Given the description of an element on the screen output the (x, y) to click on. 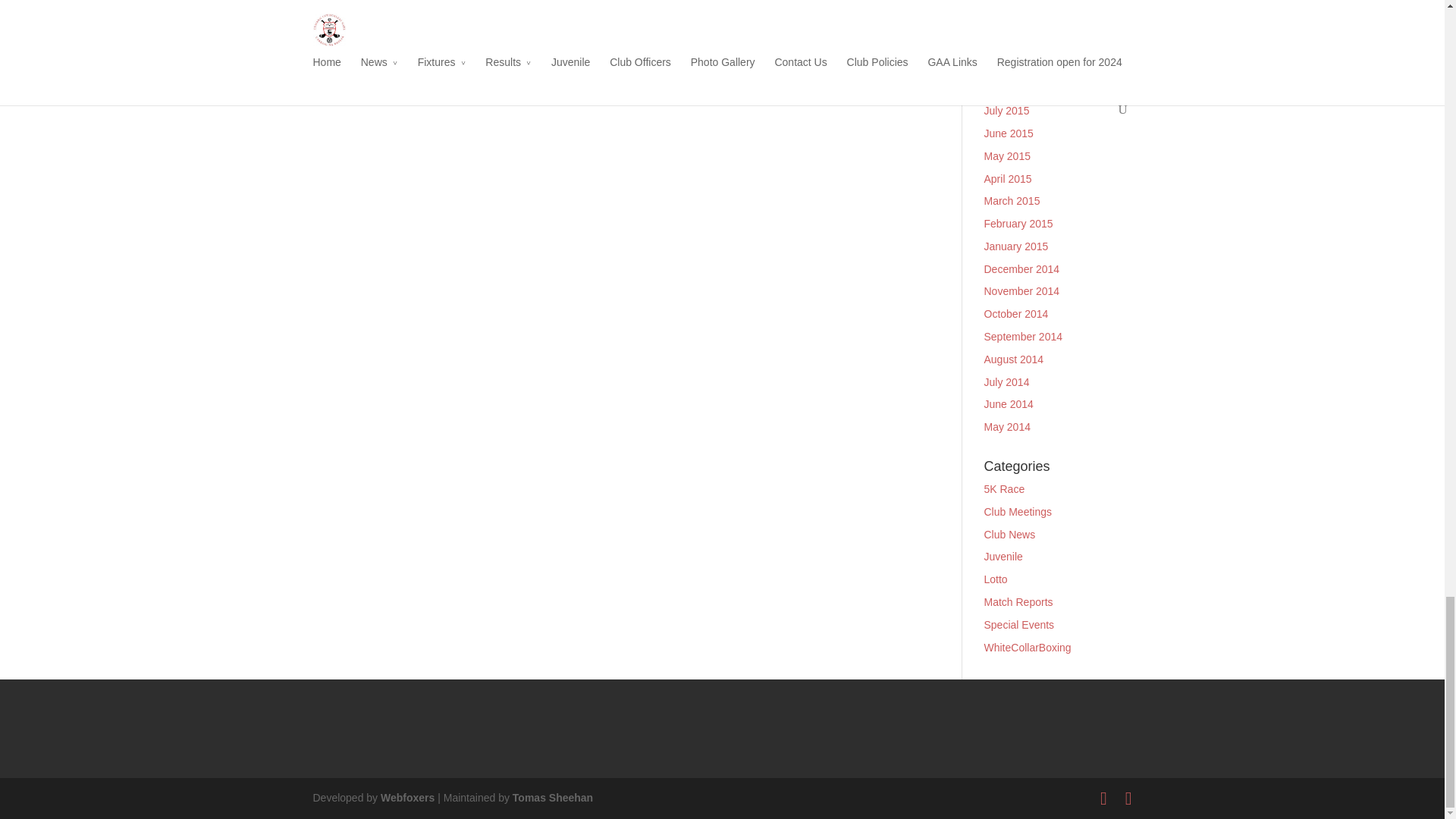
Webfoxers (406, 797)
